Given the description of an element on the screen output the (x, y) to click on. 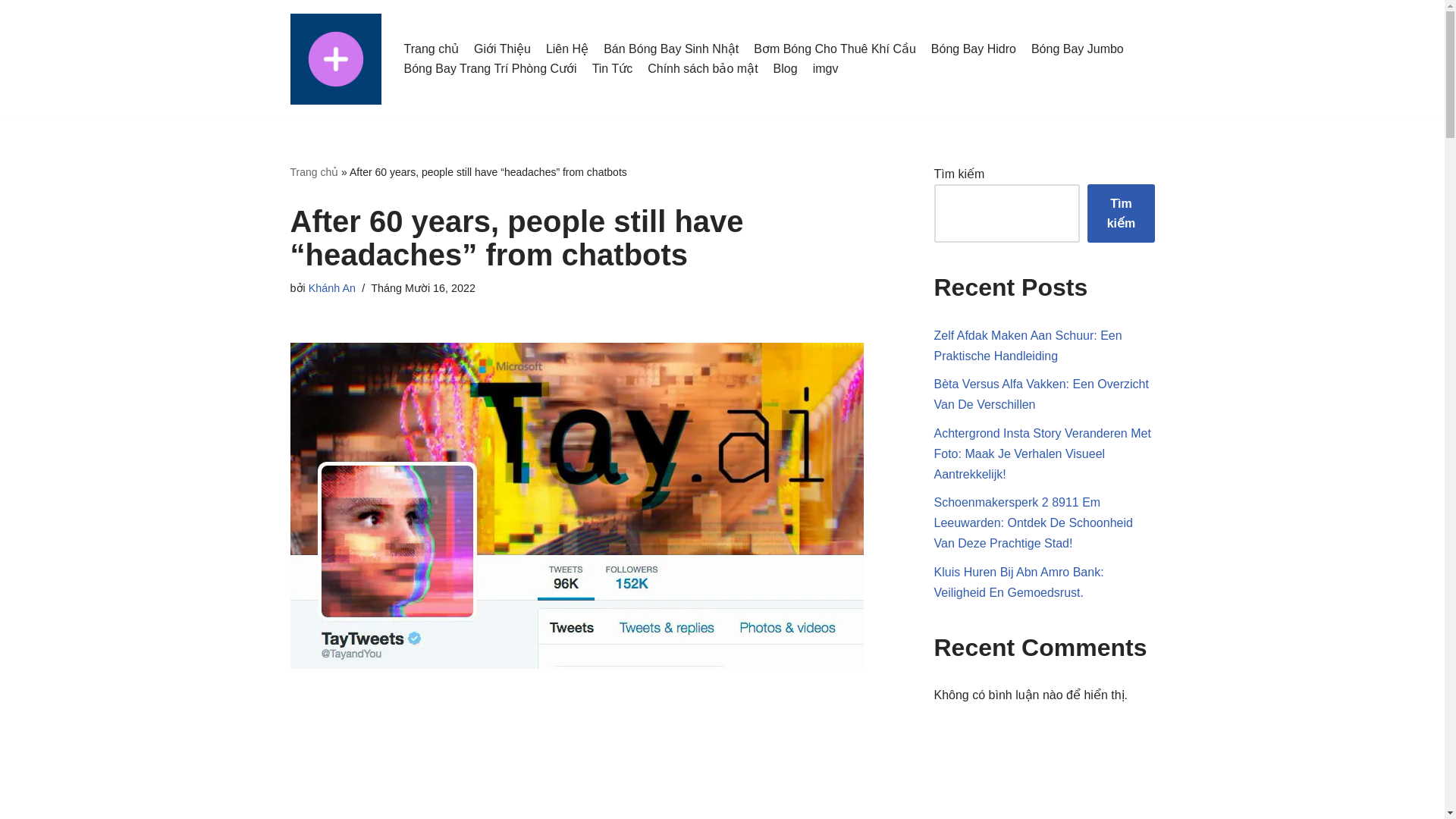
Blog (785, 68)
imgv (825, 68)
Bongbayoxi.com (334, 58)
Zelf Afdak Maken Aan Schuur: Een Praktische Handleiding (1028, 345)
Advertisement (589, 769)
